Given the description of an element on the screen output the (x, y) to click on. 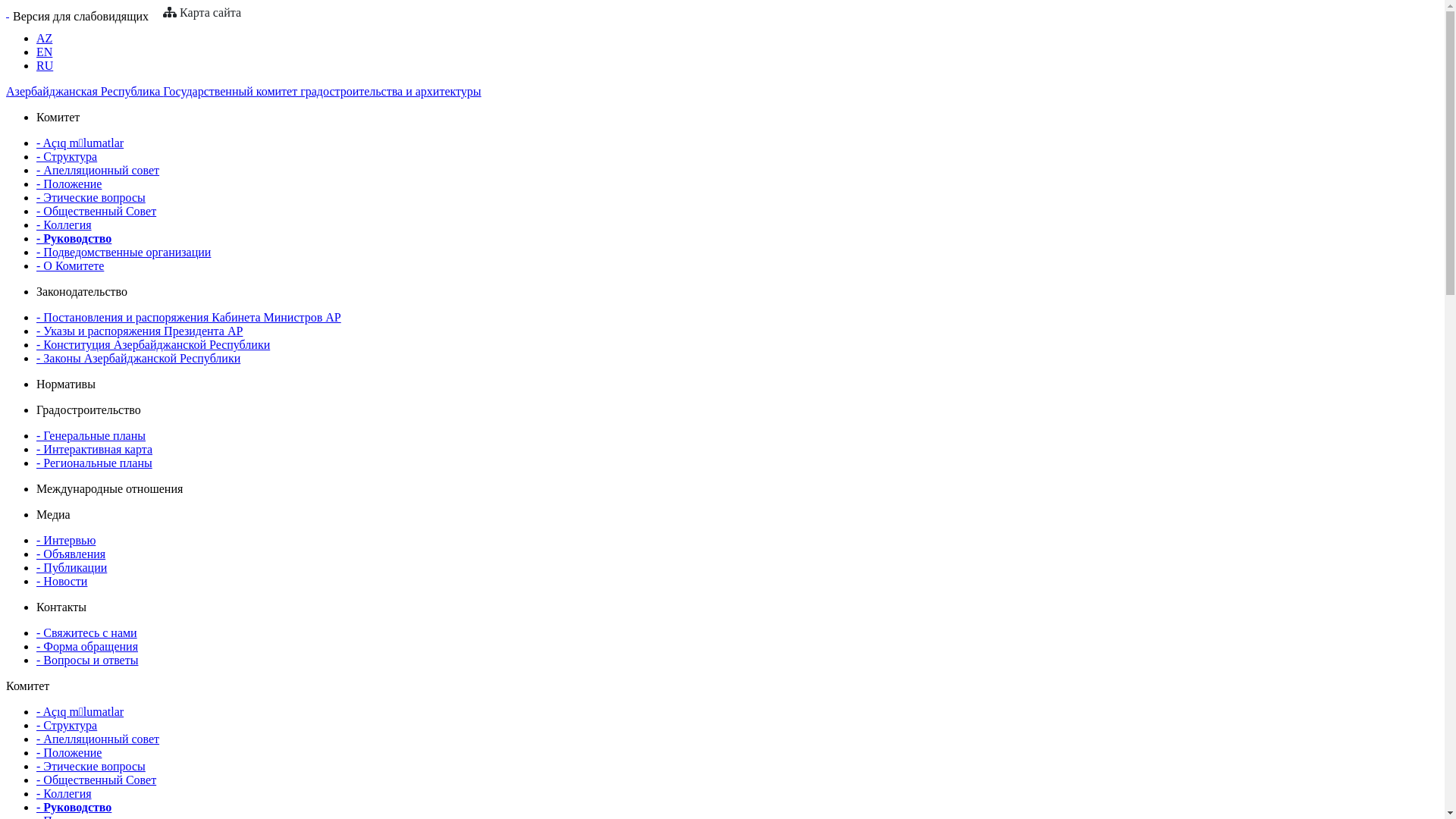
EN Element type: text (44, 51)
AZ Element type: text (44, 37)
RU Element type: text (44, 65)
